Given the description of an element on the screen output the (x, y) to click on. 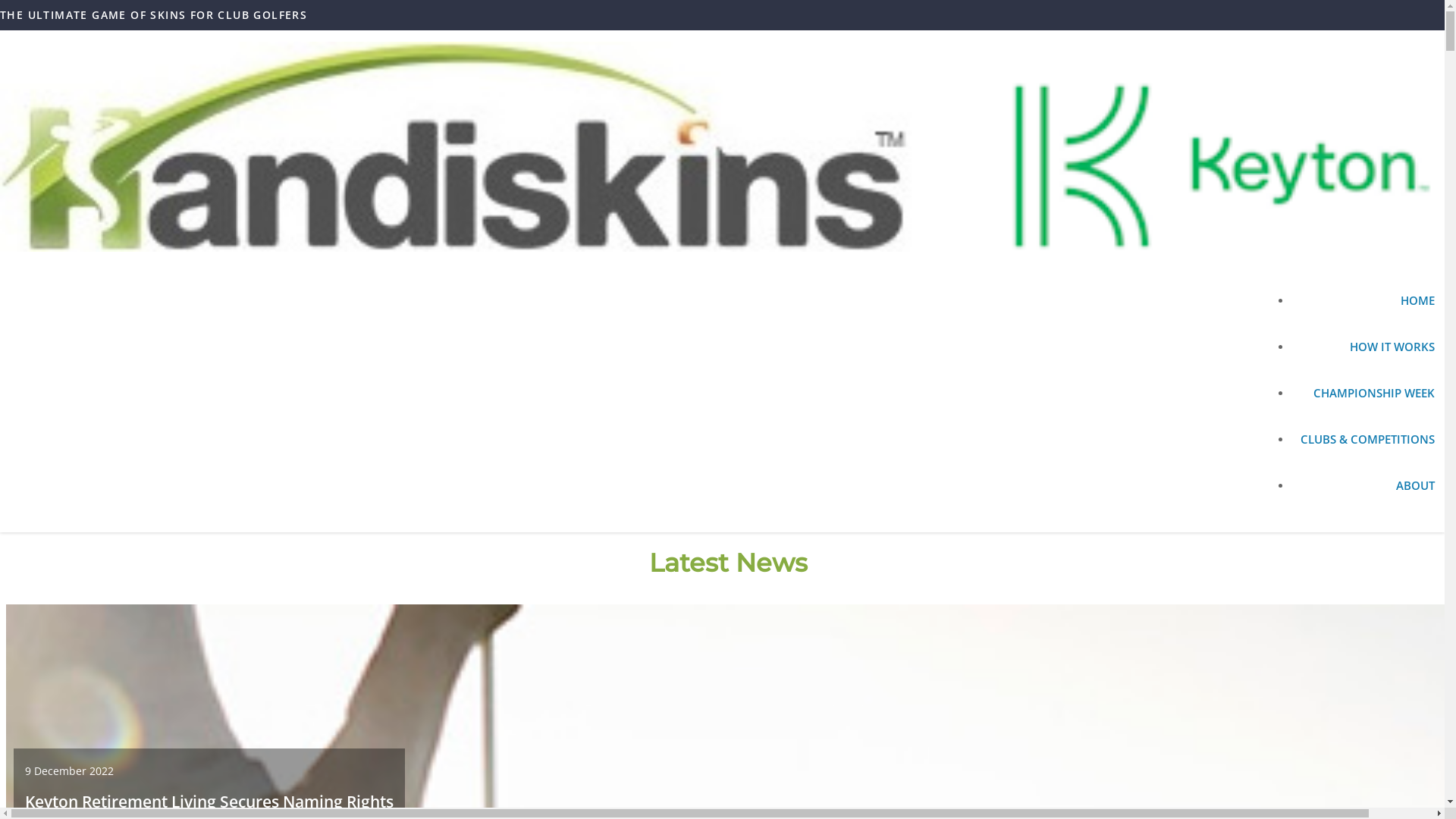
CLUBS & COMPETITIONS Element type: text (1367, 446)
ABOUT Element type: text (1367, 493)
Find out more Element type: text (1255, 390)
HOW IT WORKS Element type: text (1367, 354)
CHAMPIONSHIP WEEK Element type: text (1367, 400)
HOME Element type: text (1367, 308)
Book now! Element type: text (1395, 390)
CLUB LOGIN Element type: text (1413, 44)
